Given the description of an element on the screen output the (x, y) to click on. 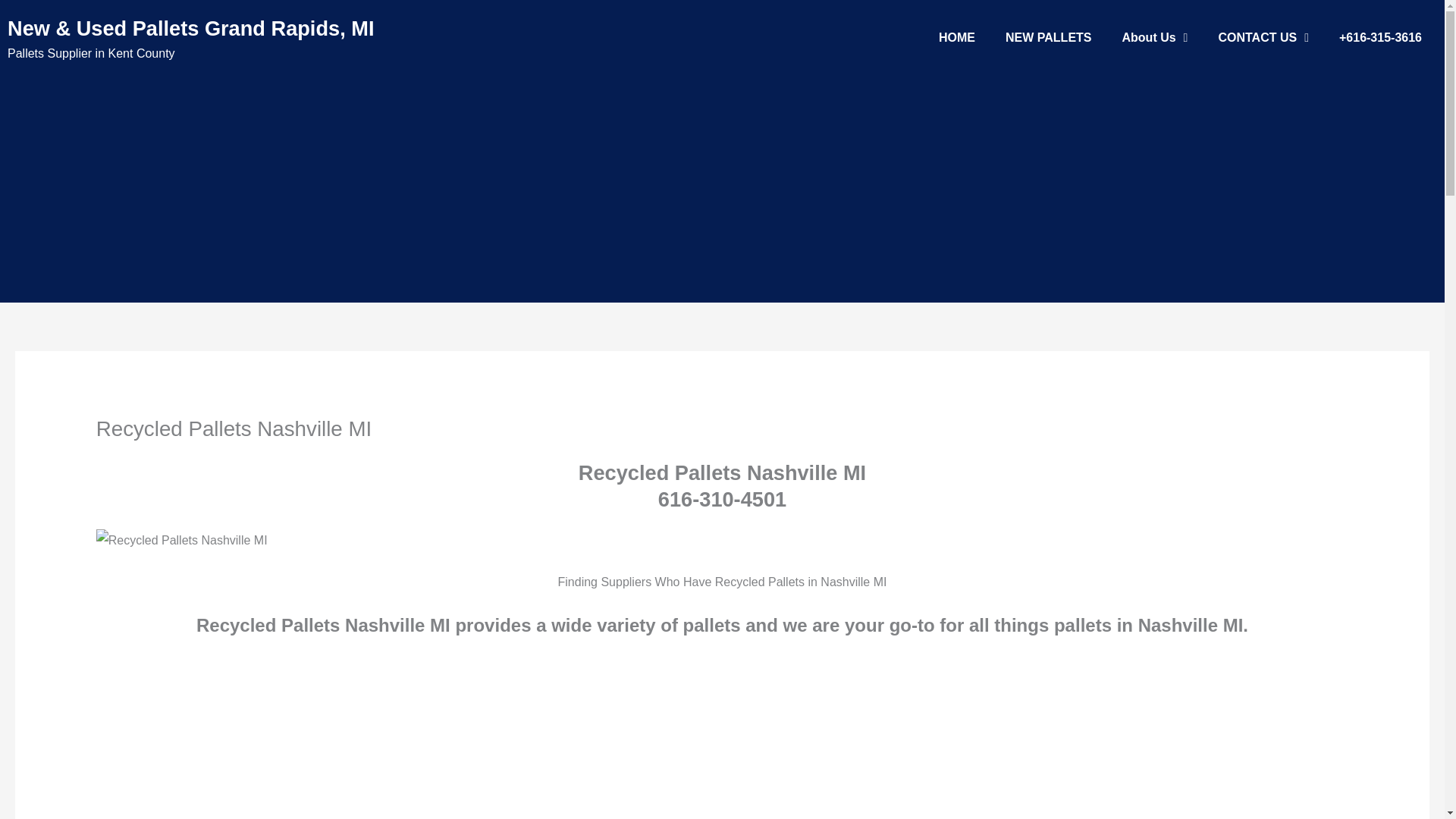
pallet (181, 540)
About Us (1155, 37)
CONTACT US (1262, 37)
NEW PALLETS (1048, 37)
HOME (956, 37)
